Given the description of an element on the screen output the (x, y) to click on. 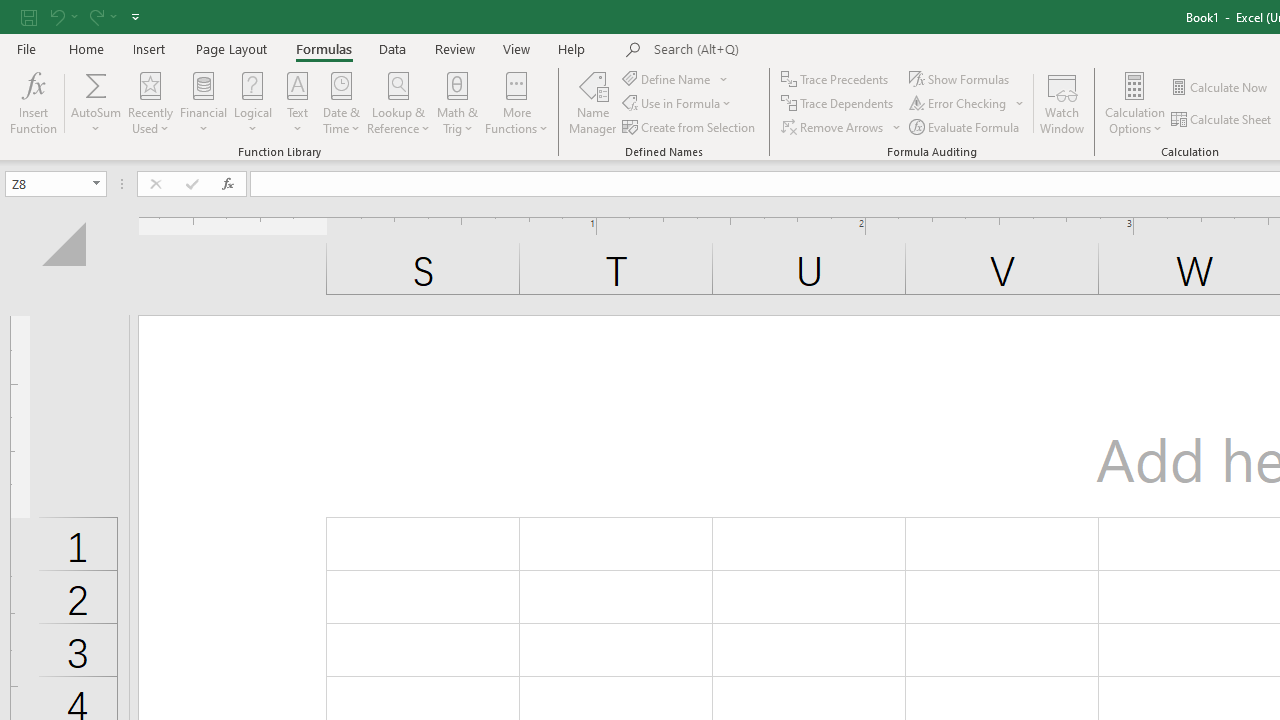
Lookup & Reference (398, 102)
Remove Arrows (833, 126)
Trace Dependents (838, 103)
AutoSum (96, 102)
Remove Arrows (842, 126)
Create from Selection... (690, 126)
Date & Time (342, 102)
Show Formulas (961, 78)
